Given the description of an element on the screen output the (x, y) to click on. 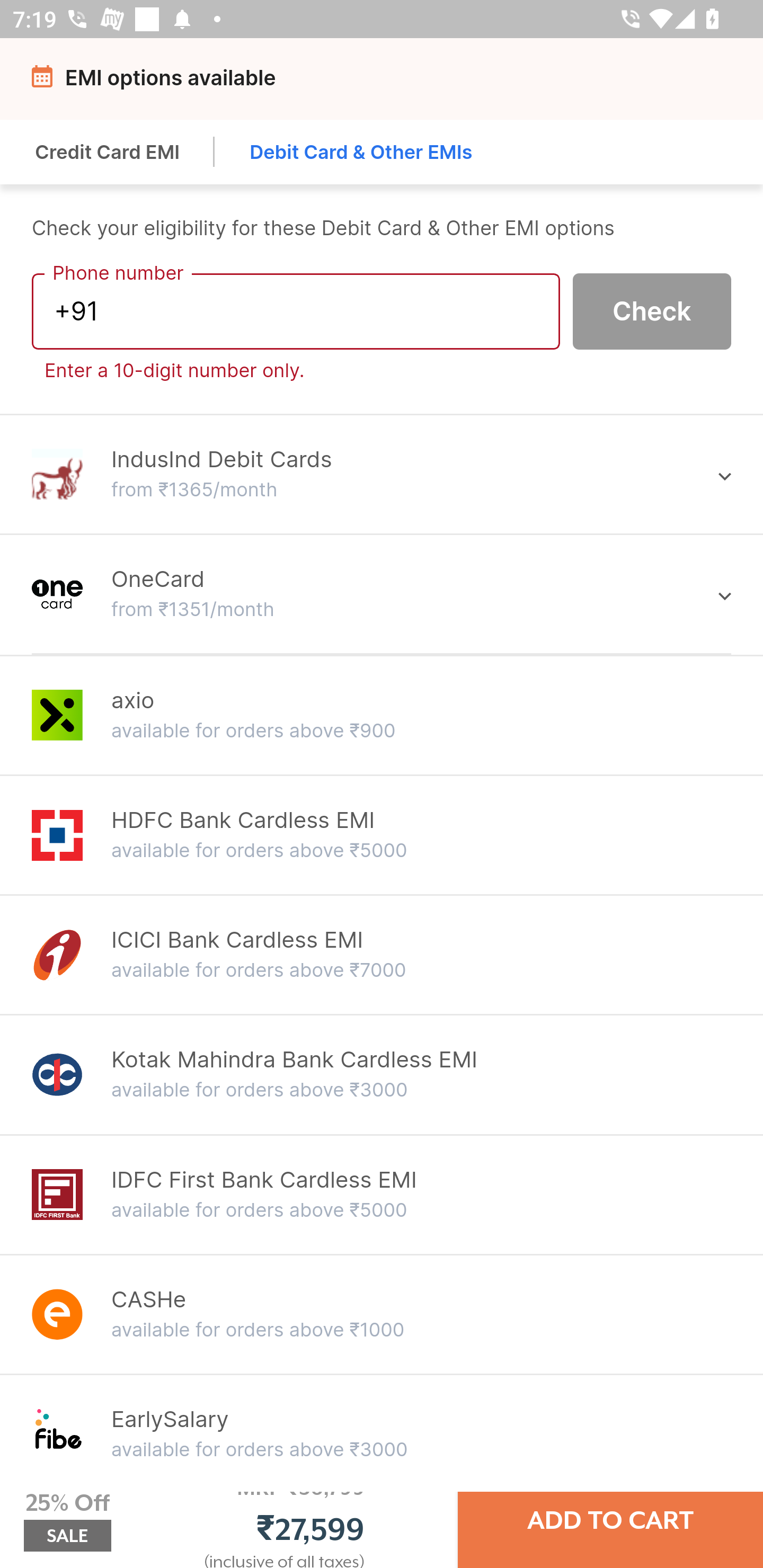
Navigate up (44, 82)
Credit Card EMI (107, 152)
Debit Card & Other EMIs (361, 152)
Check (651, 310)
OneCard OneCard from ₹1351/month (381, 593)
ADD TO CART (610, 1520)
